Given the description of an element on the screen output the (x, y) to click on. 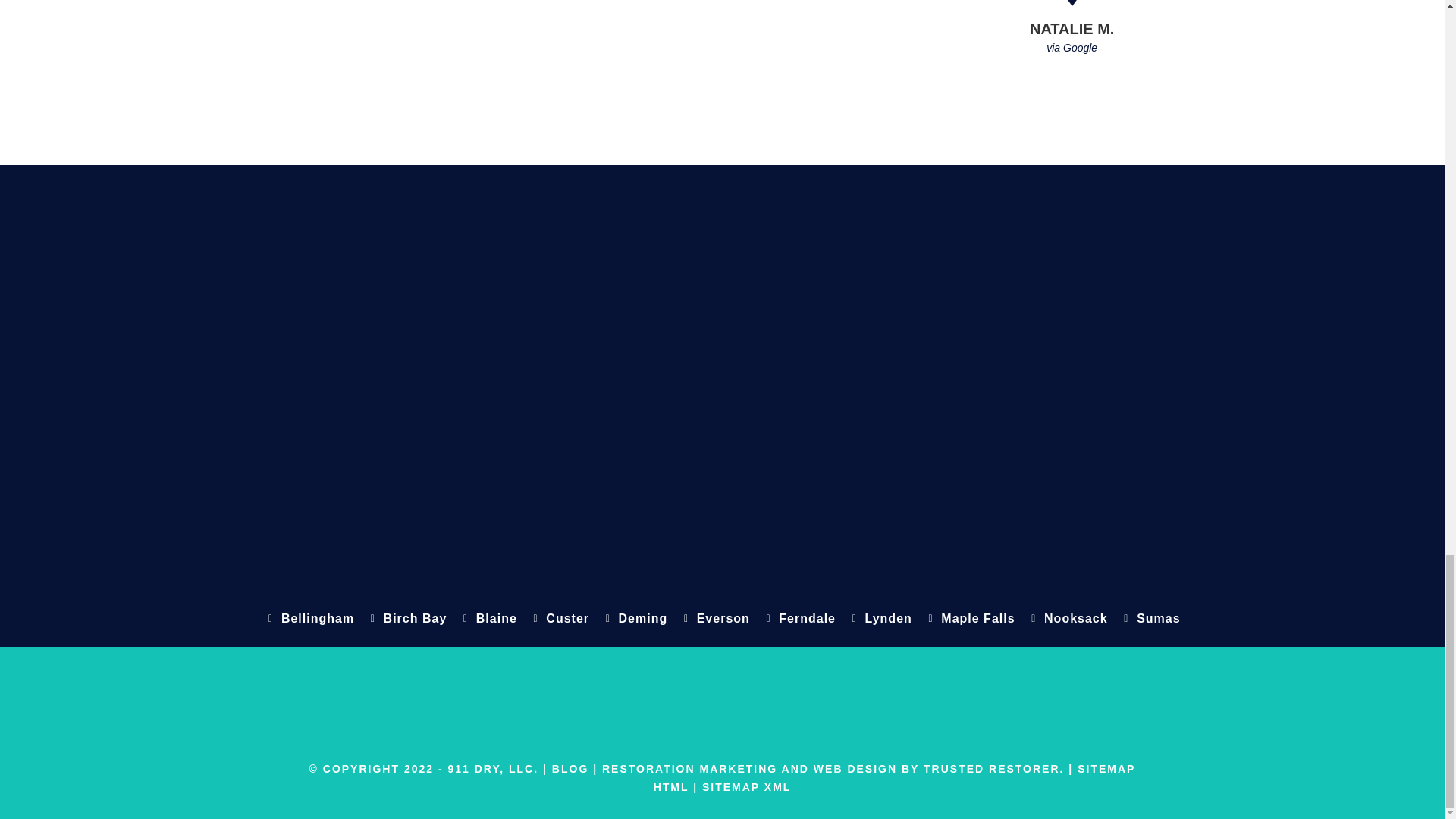
Everson (714, 618)
Lynden (879, 618)
Deming (633, 618)
Bellingham (308, 618)
Custer (559, 618)
Sumas (1149, 618)
Ferndale (798, 618)
911 DRY, LLC. (492, 768)
Birch Bay (406, 618)
Blaine (487, 618)
Maple Falls (969, 618)
Nooksack (1067, 618)
